Given the description of an element on the screen output the (x, y) to click on. 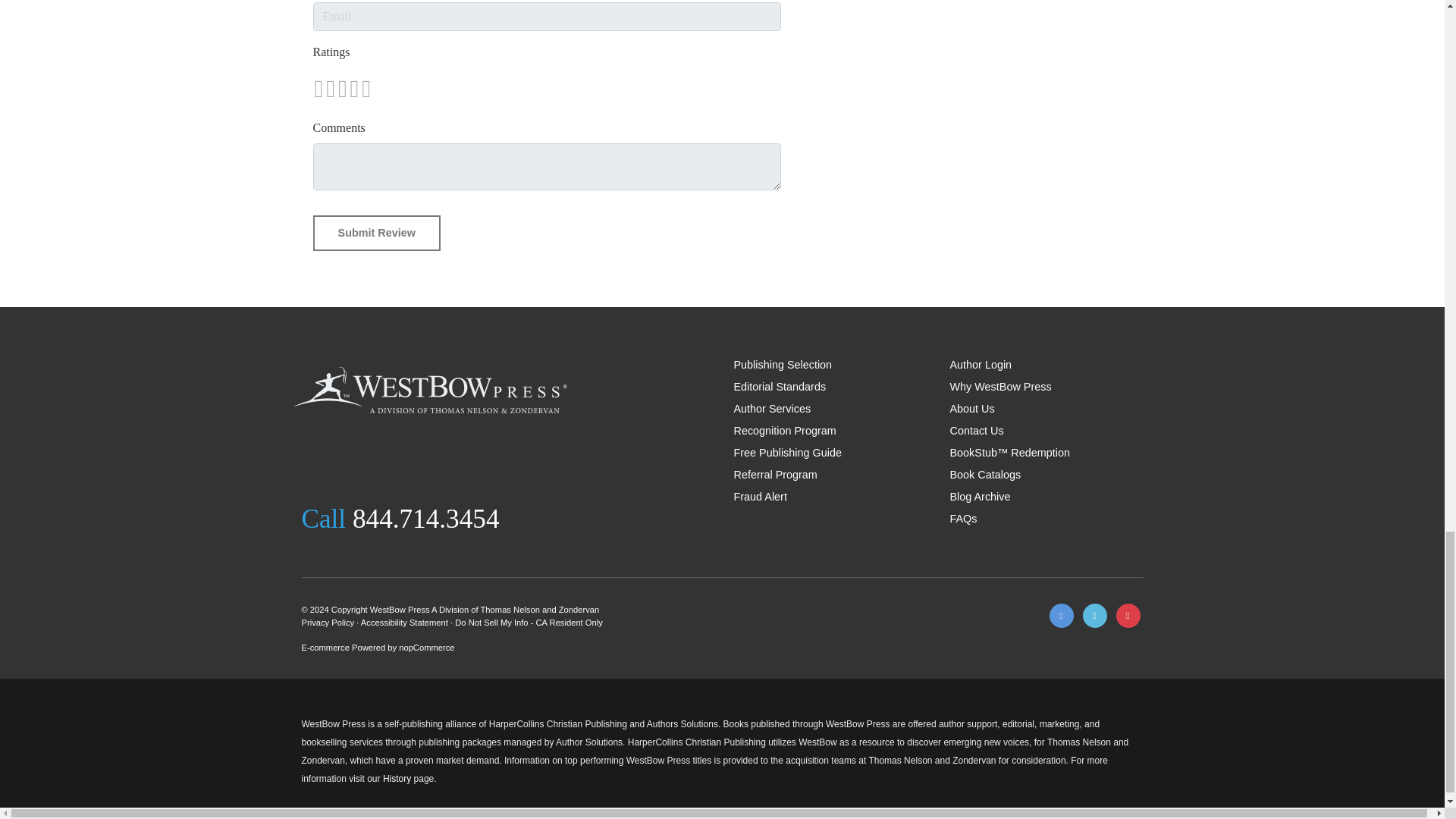
Editorial Standards (780, 386)
Author Login (980, 364)
Contact Us (976, 430)
Referral Program (774, 474)
Author Services (771, 408)
Fraud Alert (760, 496)
Submit Review (377, 233)
Publishing Selection (782, 364)
Submit Review (377, 233)
Free Publishing Guide (787, 452)
Book Catalogs (984, 474)
Not Rated (342, 88)
Recognition Program (784, 430)
About Us (971, 408)
Why WestBow Press (1000, 386)
